Given the description of an element on the screen output the (x, y) to click on. 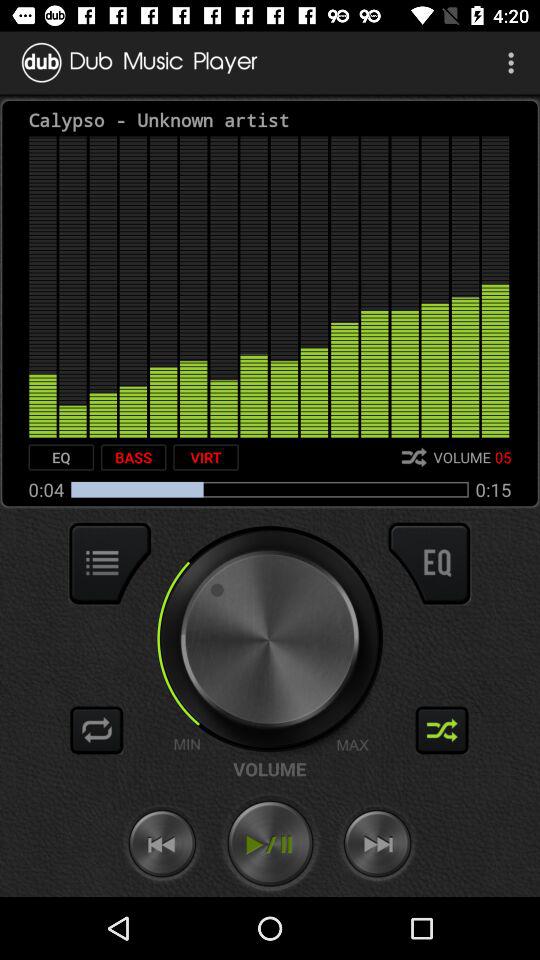
press the item above 0:07 (61, 457)
